Given the description of an element on the screen output the (x, y) to click on. 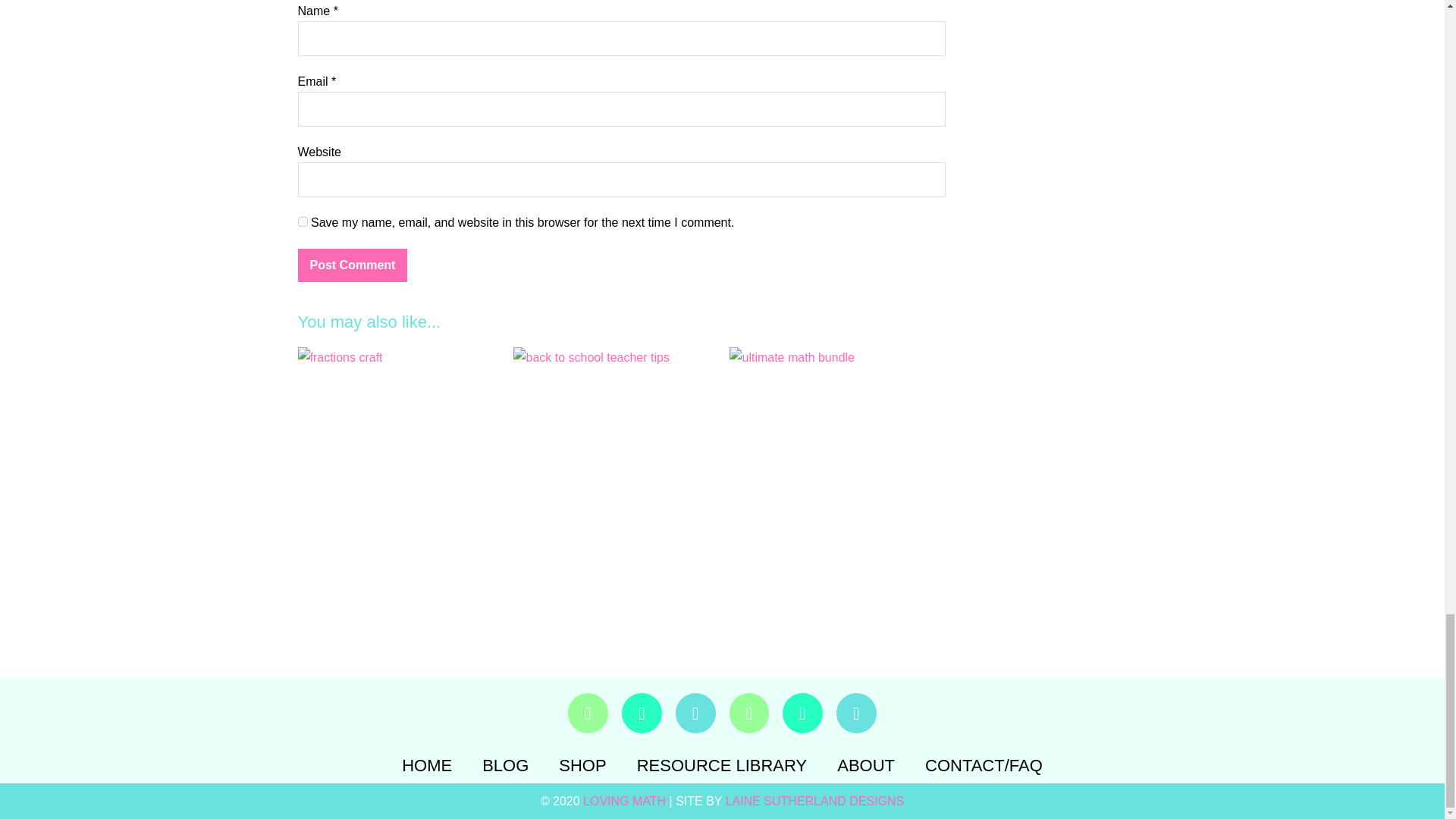
Post Comment (352, 264)
Post Comment (352, 264)
yes (302, 221)
